Given the description of an element on the screen output the (x, y) to click on. 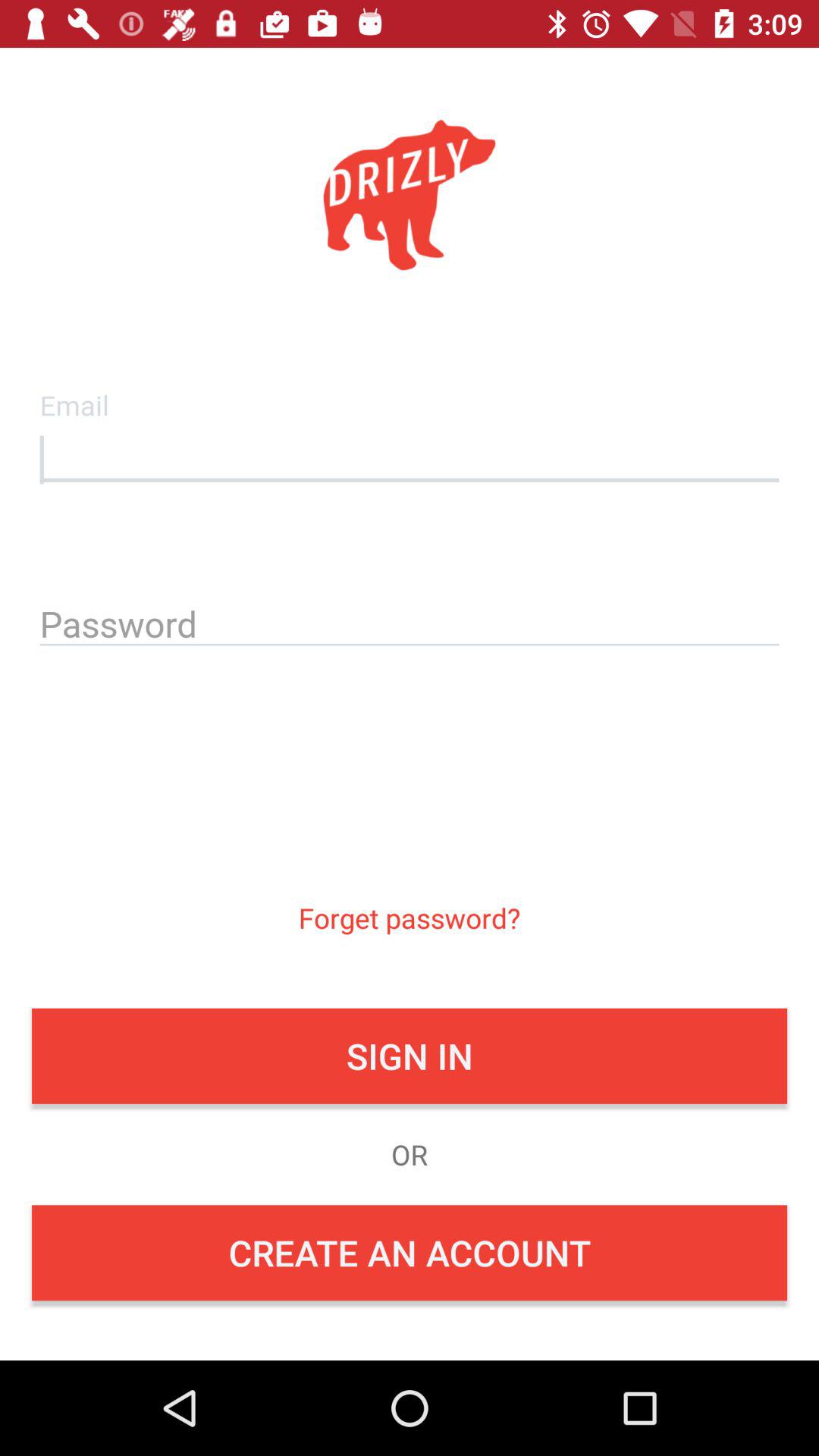
a place to enter your password (409, 621)
